Given the description of an element on the screen output the (x, y) to click on. 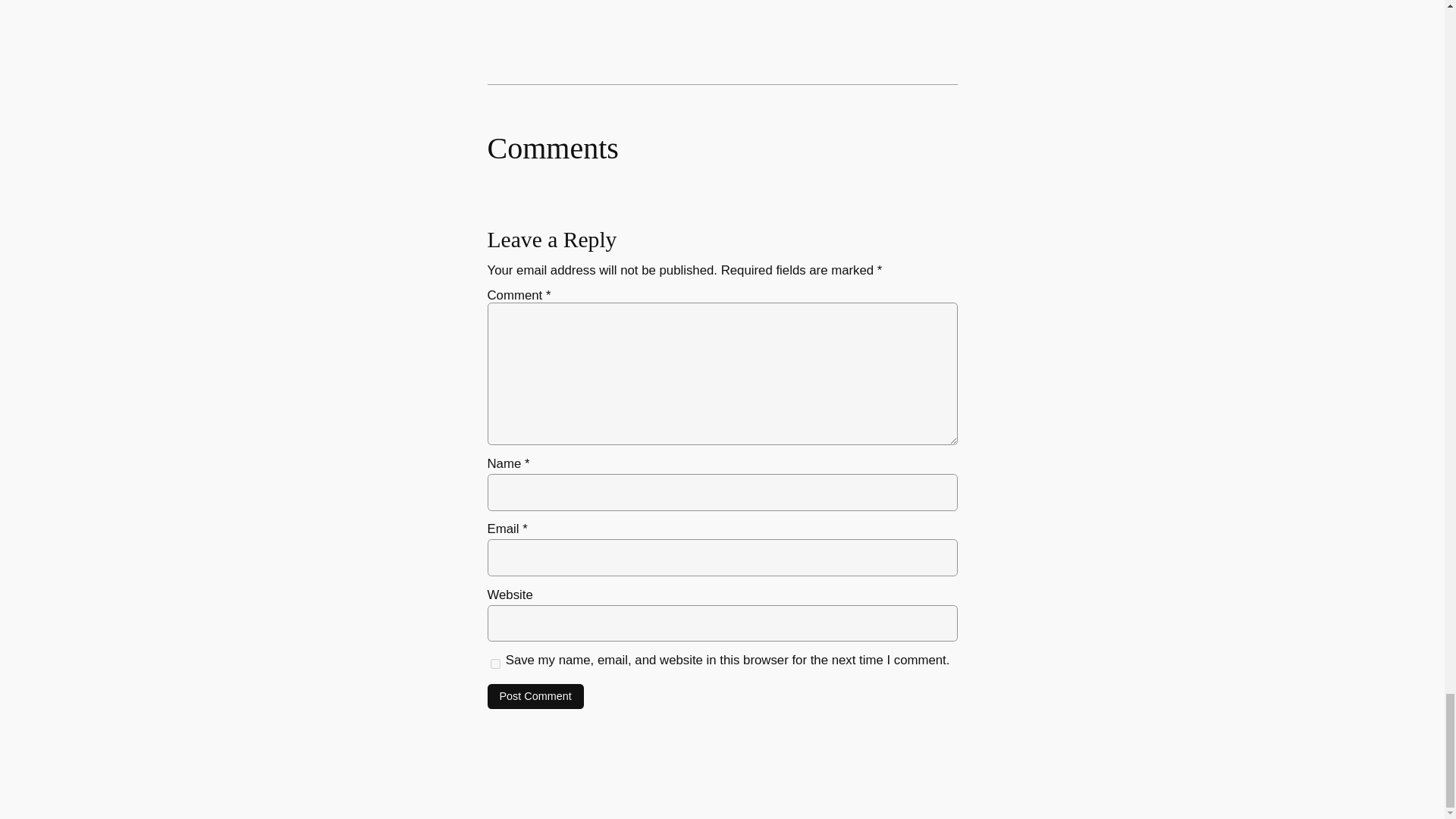
yes (494, 664)
Post Comment (534, 696)
Post Comment (534, 696)
